Given the description of an element on the screen output the (x, y) to click on. 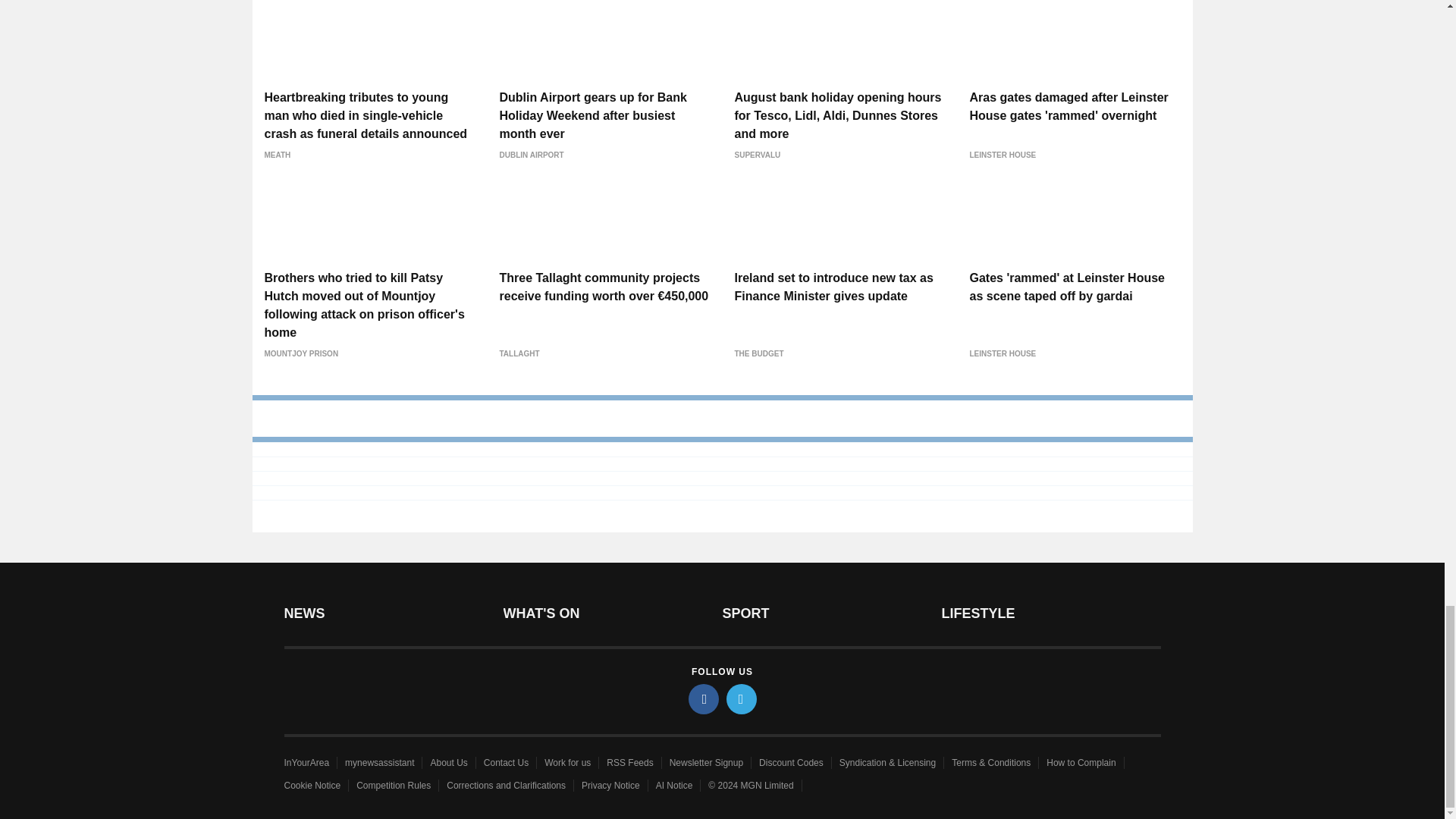
twitter (741, 698)
facebook (703, 698)
